Given the description of an element on the screen output the (x, y) to click on. 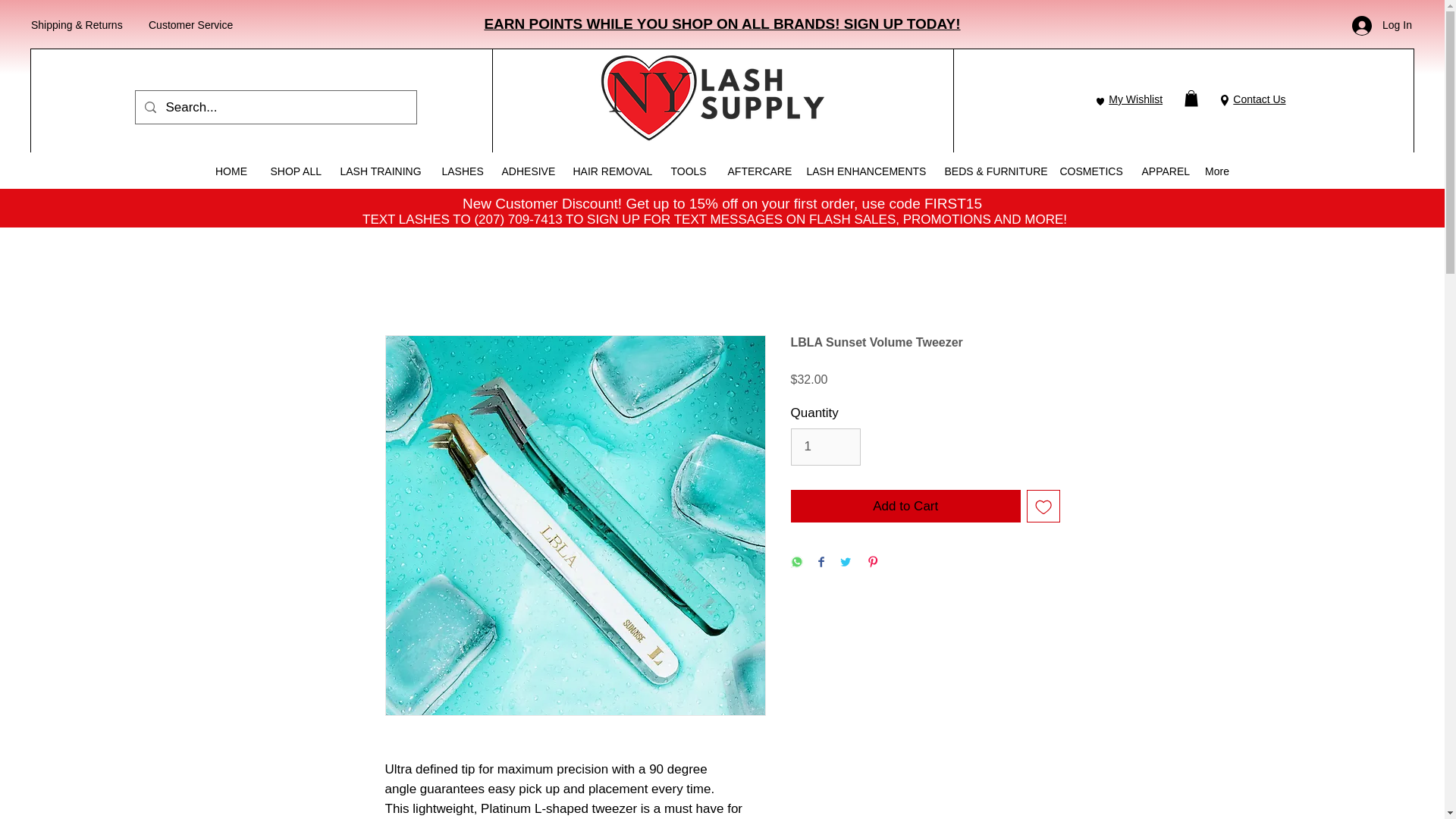
LASH ENHANCEMENTS (863, 171)
Log In (1381, 25)
AFTERCARE (755, 171)
Contact Us (1259, 99)
HOME (231, 171)
1 (825, 447)
ADHESIVE (524, 171)
My Wishlist (1134, 99)
LASHES (460, 171)
SHOP ALL (294, 171)
